Given the description of an element on the screen output the (x, y) to click on. 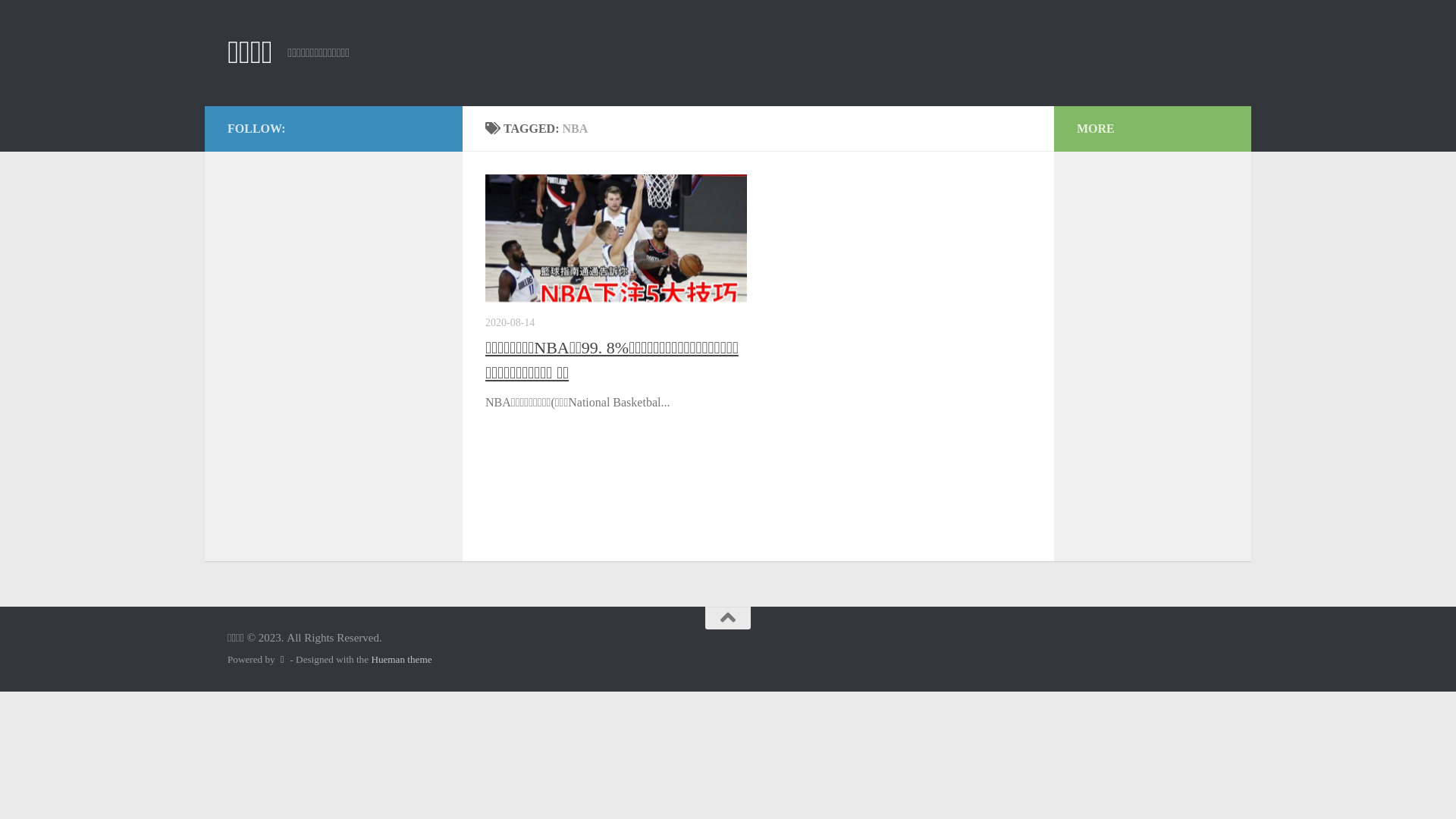
Hueman theme Element type: text (400, 659)
Powered by WordPress Element type: hover (282, 659)
Skip to content Element type: text (59, 20)
